Given the description of an element on the screen output the (x, y) to click on. 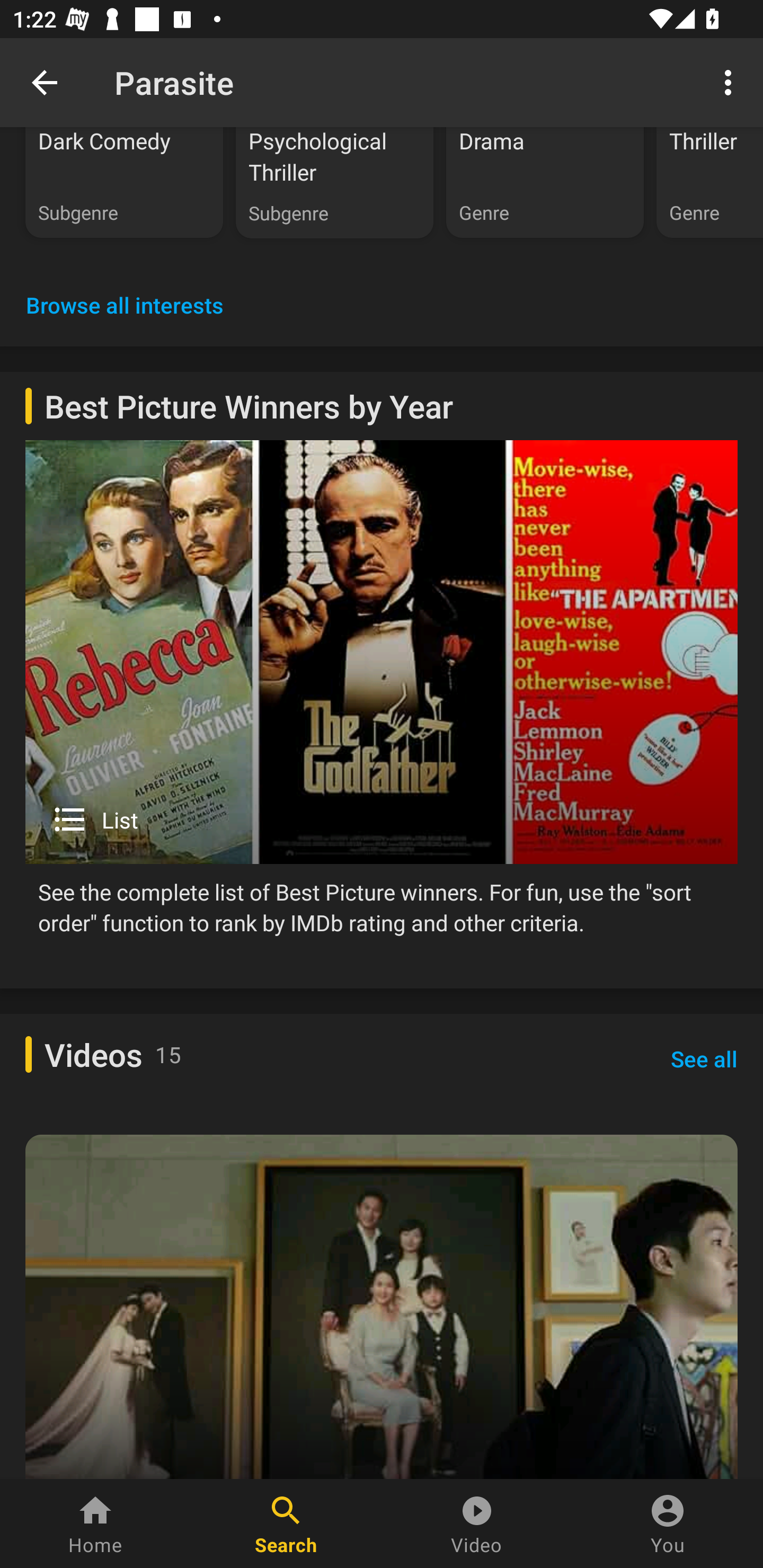
More options (731, 81)
Dark Comedy Subgenre (123, 182)
Psychological Thriller Subgenre (334, 182)
Drama Genre (544, 182)
Thriller Genre (709, 182)
Browse all interests (124, 304)
See all See all Videos (703, 1058)
Home (95, 1523)
Video (476, 1523)
You (667, 1523)
